Given the description of an element on the screen output the (x, y) to click on. 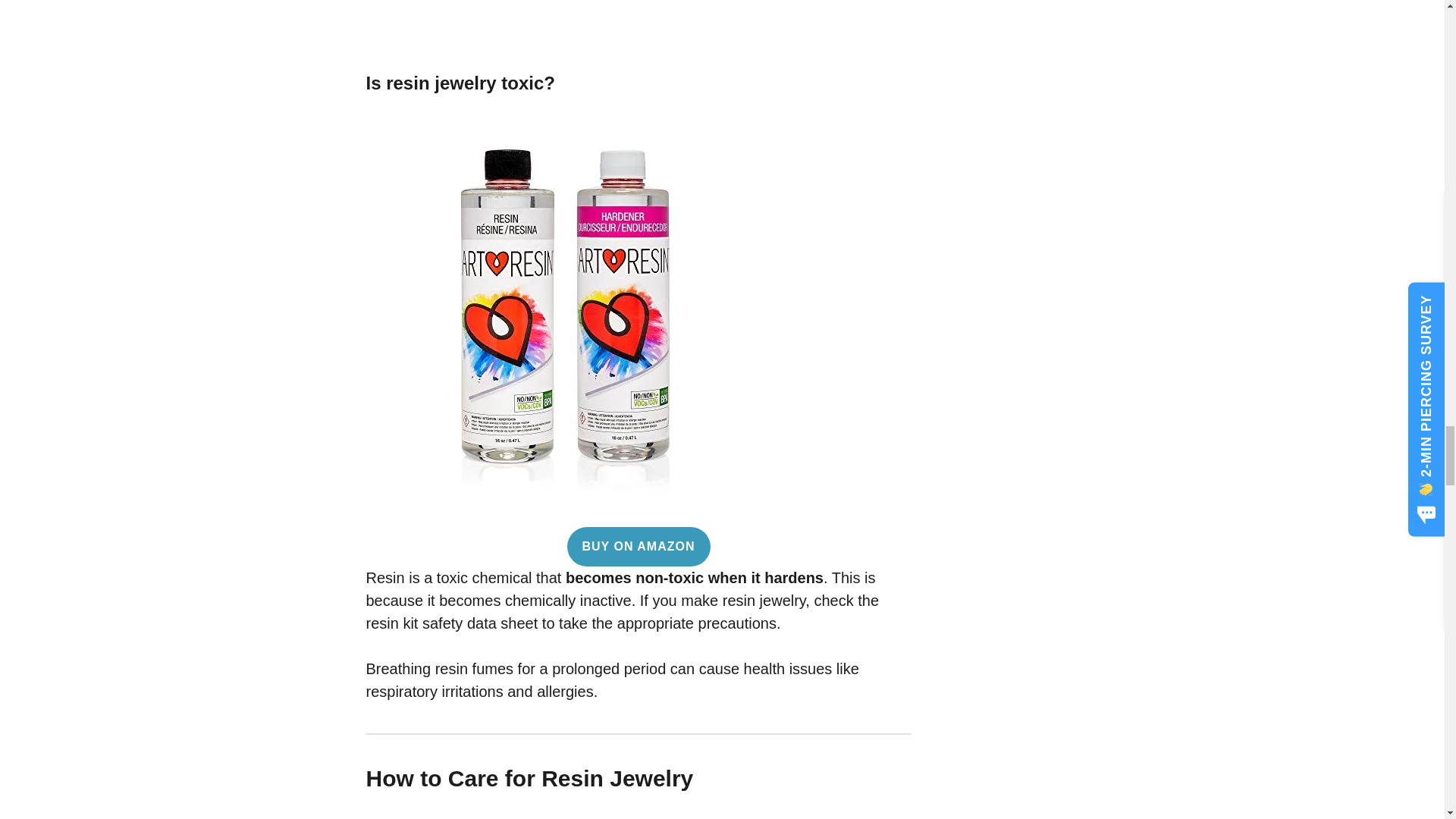
BUY ON AMAZON (638, 546)
